Given the description of an element on the screen output the (x, y) to click on. 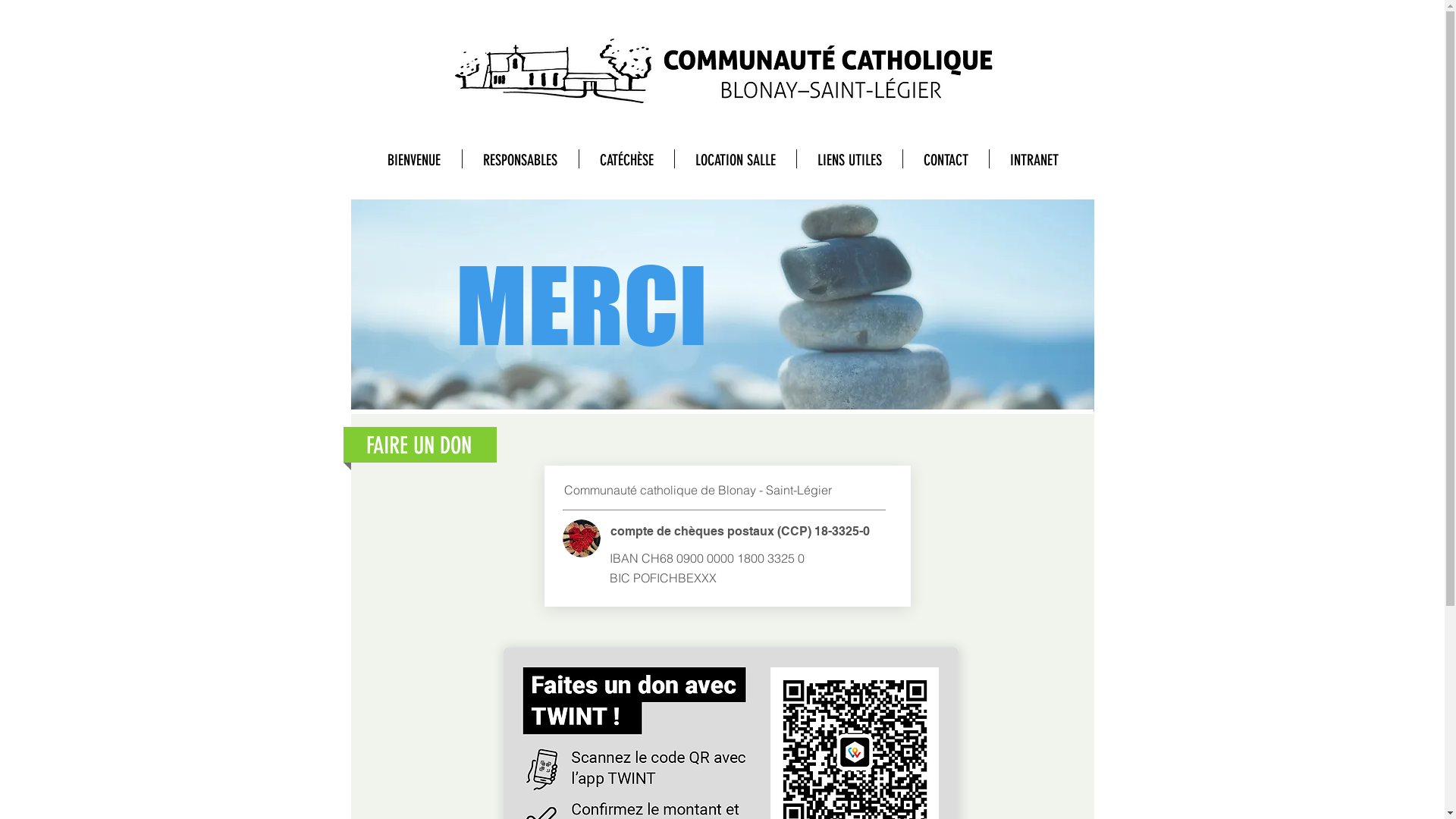
LIENS UTILES Element type: text (848, 158)
CONTACT Element type: text (945, 158)
INTRANET Element type: text (1033, 158)
RESPONSABLES Element type: text (520, 158)
BIENVENUE Element type: text (414, 158)
LOCATION SALLE Element type: text (735, 158)
